Given the description of an element on the screen output the (x, y) to click on. 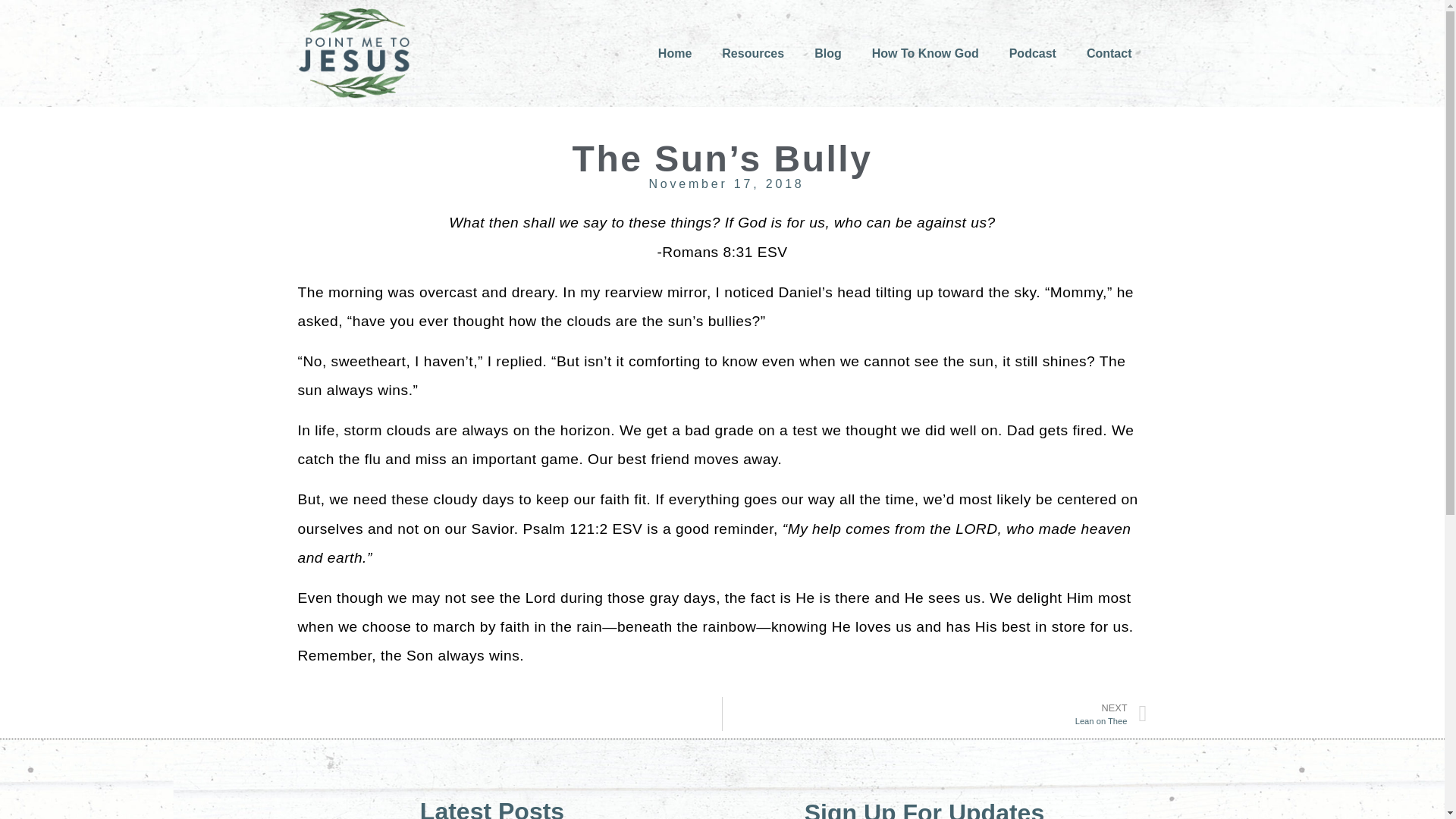
Contact (1109, 53)
November 17, 2018 (721, 184)
Home (674, 53)
Resources (752, 53)
How To Know God (925, 53)
Podcast (1032, 53)
Blog (828, 53)
